Given the description of an element on the screen output the (x, y) to click on. 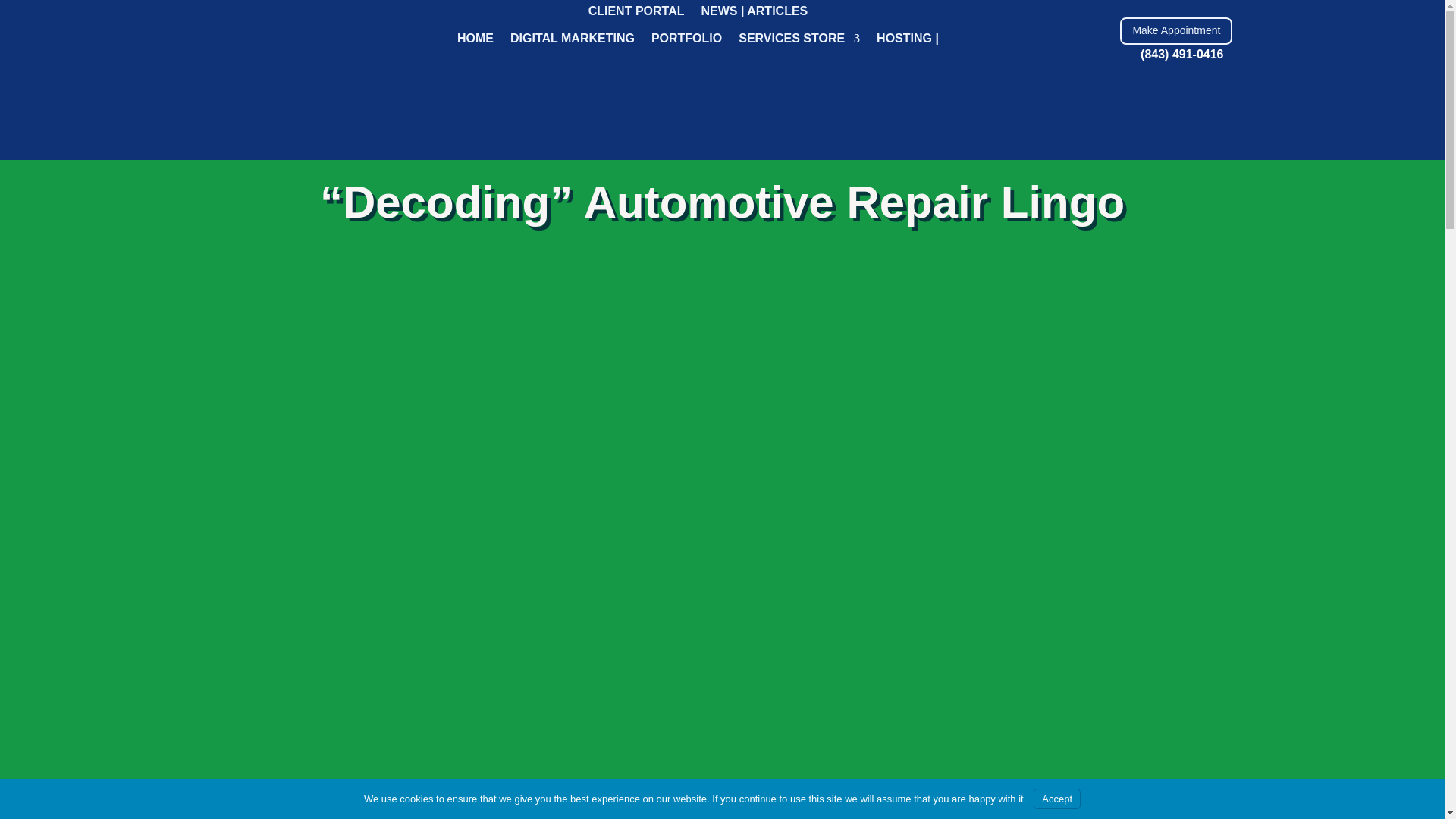
DIGITAL MARKETING (572, 41)
SERVICES STORE (799, 41)
PORTFOLIO (686, 41)
CLIENT PORTAL (636, 13)
HOME (475, 41)
Make Appointment (1175, 31)
